Given the description of an element on the screen output the (x, y) to click on. 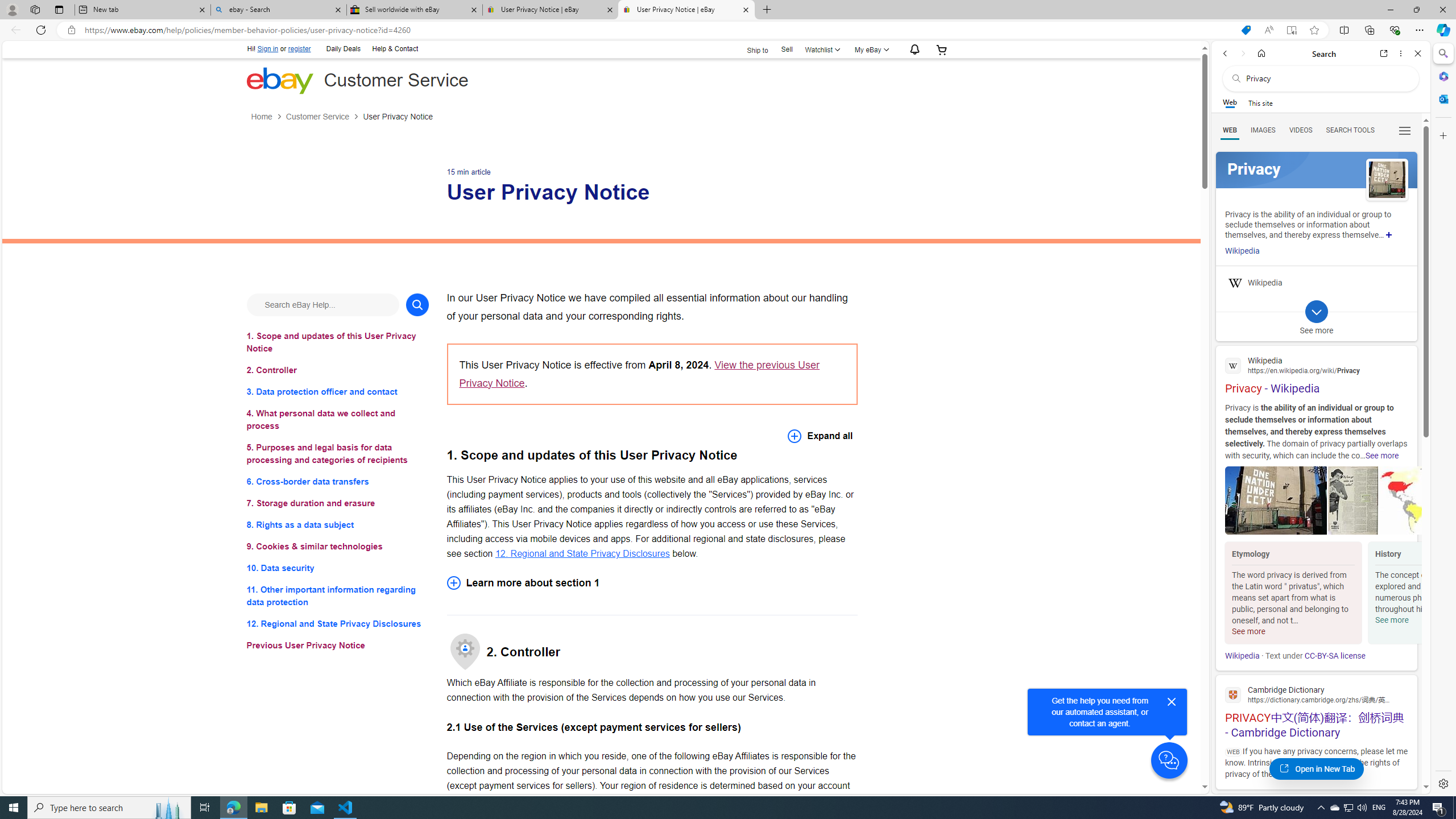
Customize (1442, 135)
Help & Contact (394, 48)
Sign in (267, 49)
7. Storage duration and erasure (337, 503)
Customer Service (317, 117)
Click to scroll right (1407, 594)
Daily Deals (343, 49)
Enter Immersive Reader (F9) (1291, 29)
Privacy - Wikipedia (1315, 373)
Customer Service (324, 117)
